Given the description of an element on the screen output the (x, y) to click on. 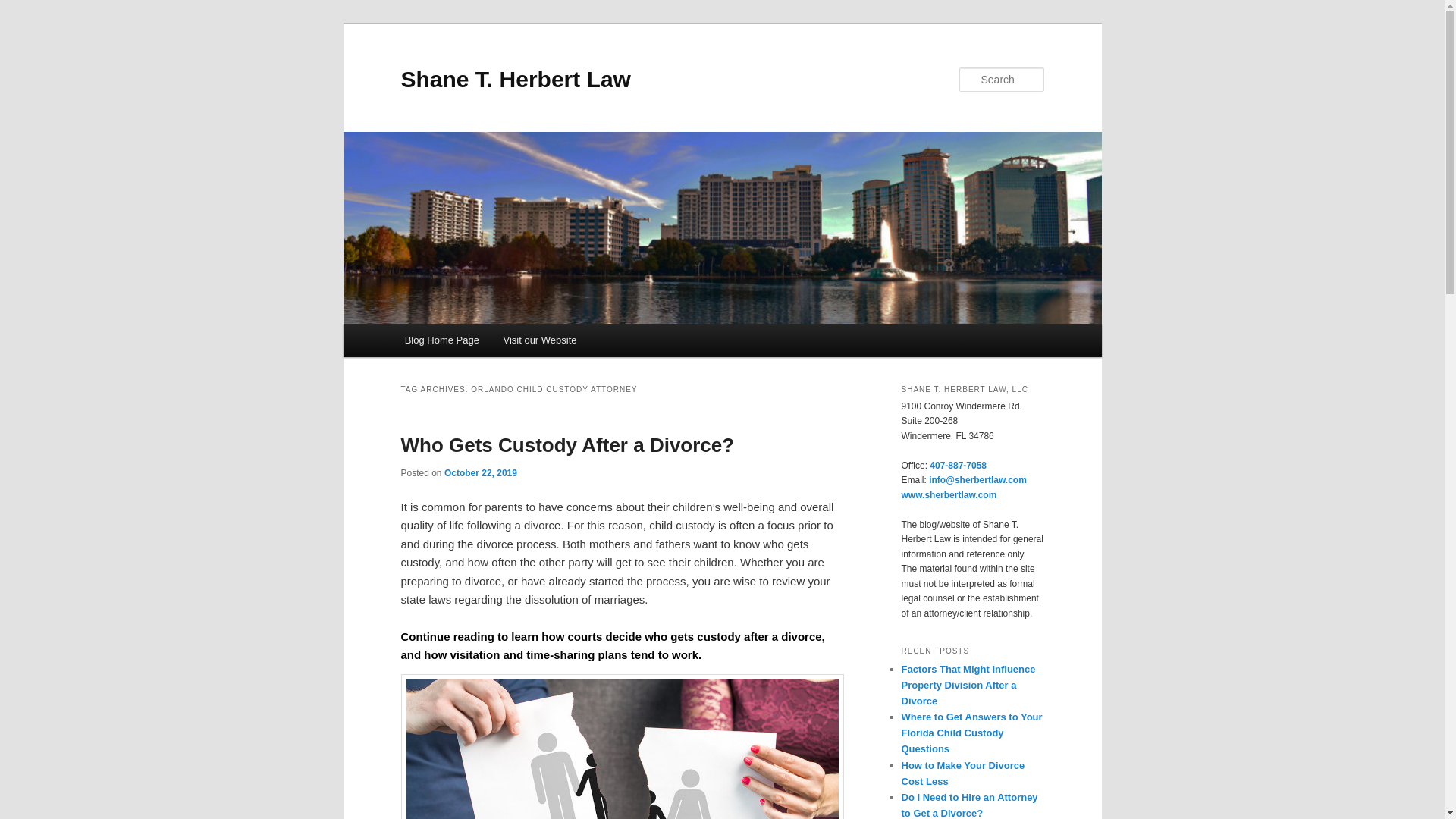
Where to Get Answers to Your Florida Child Custody Questions (971, 732)
Search (24, 8)
5:34 pm (480, 472)
Blog Home Page (442, 339)
Who Gets Custody After a Divorce? (566, 445)
Shane T. Herbert Law (515, 78)
Do I Need to Hire an Attorney to Get a Divorce? (968, 805)
How to Make Your Divorce Cost Less (963, 773)
www.sherbertlaw.com (948, 494)
